Given the description of an element on the screen output the (x, y) to click on. 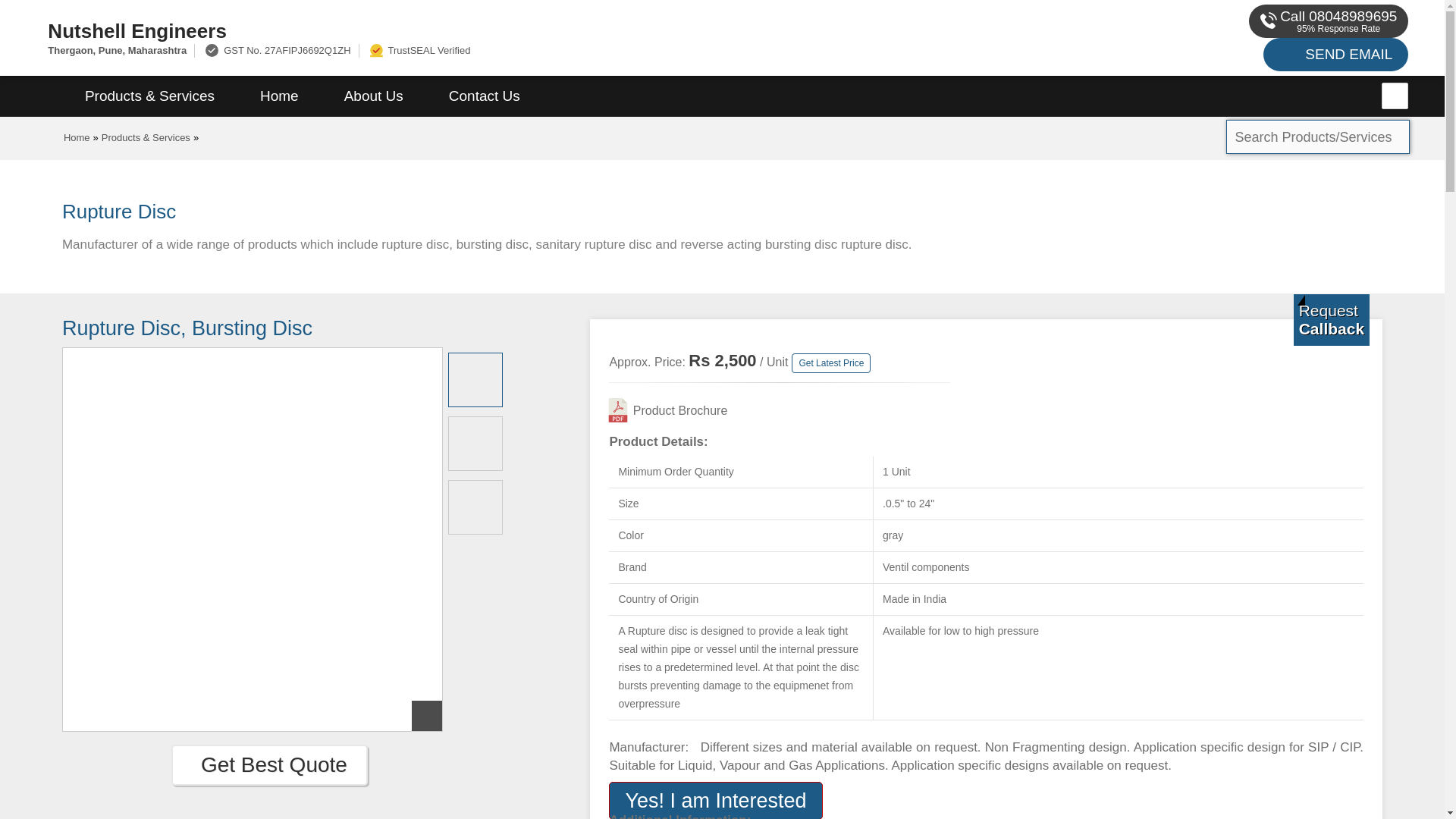
Home (77, 137)
Home (279, 96)
Contact Us (484, 96)
Nutshell Engineers (485, 31)
Get a Call from us (1332, 319)
About Us (373, 96)
